Given the description of an element on the screen output the (x, y) to click on. 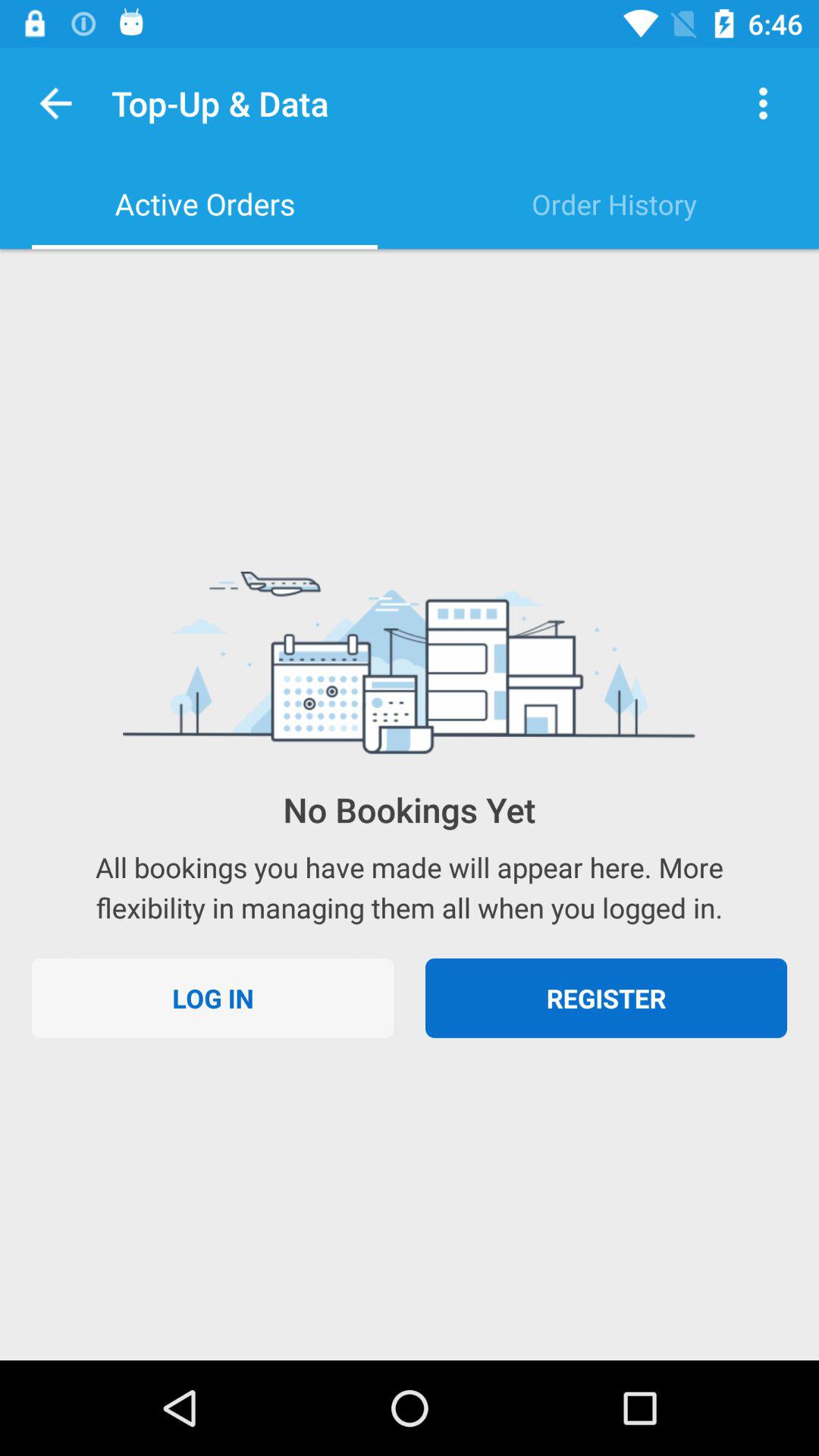
select the icon next to order history (204, 204)
